Given the description of an element on the screen output the (x, y) to click on. 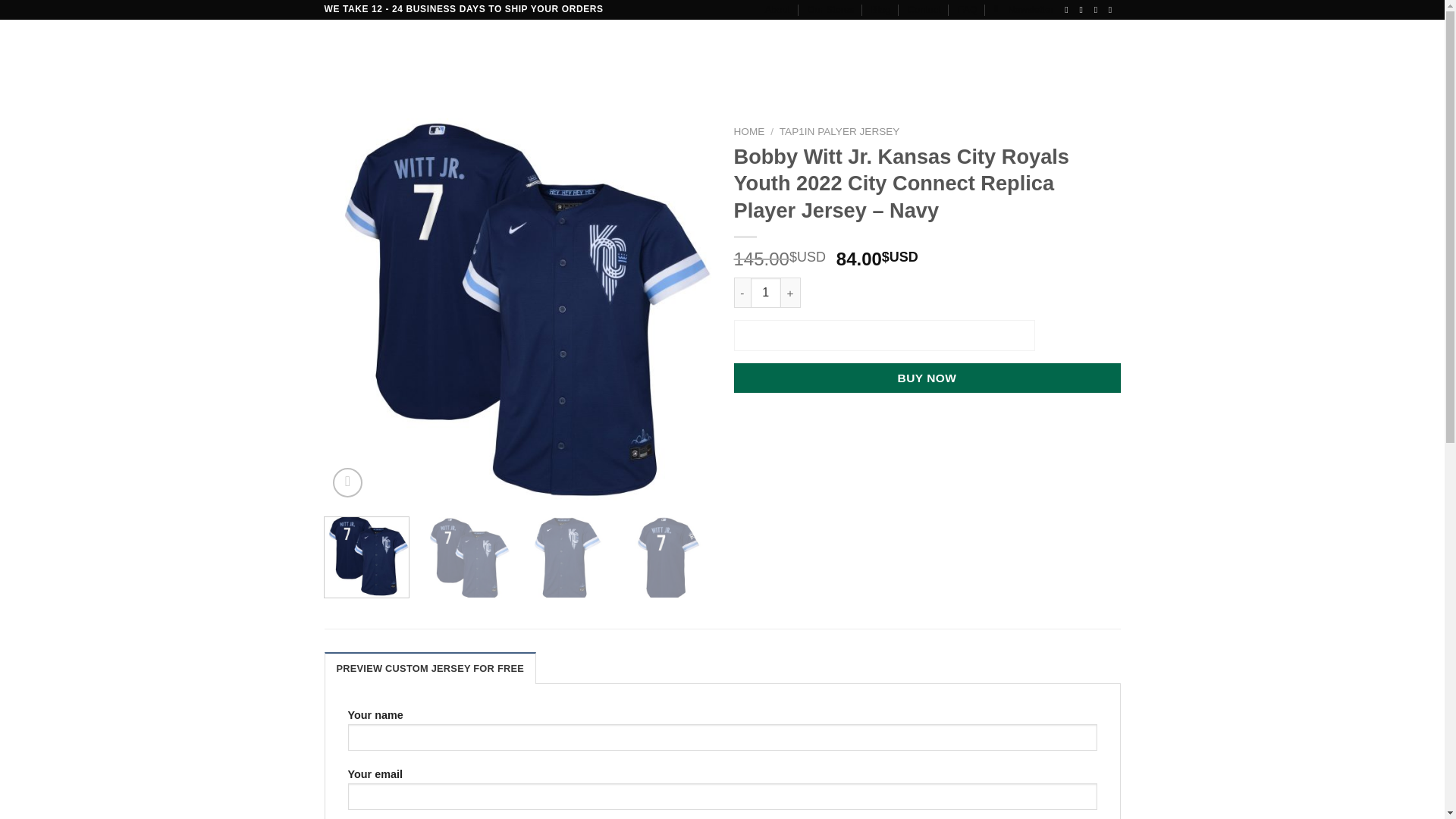
Contact (923, 9)
Zoom (347, 482)
Cart (1062, 53)
Newsletter (1023, 9)
Tap1in - MLB merchandise (467, 558)
Our Stores (831, 9)
1 (765, 292)
About (777, 9)
Blog (880, 9)
